Given the description of an element on the screen output the (x, y) to click on. 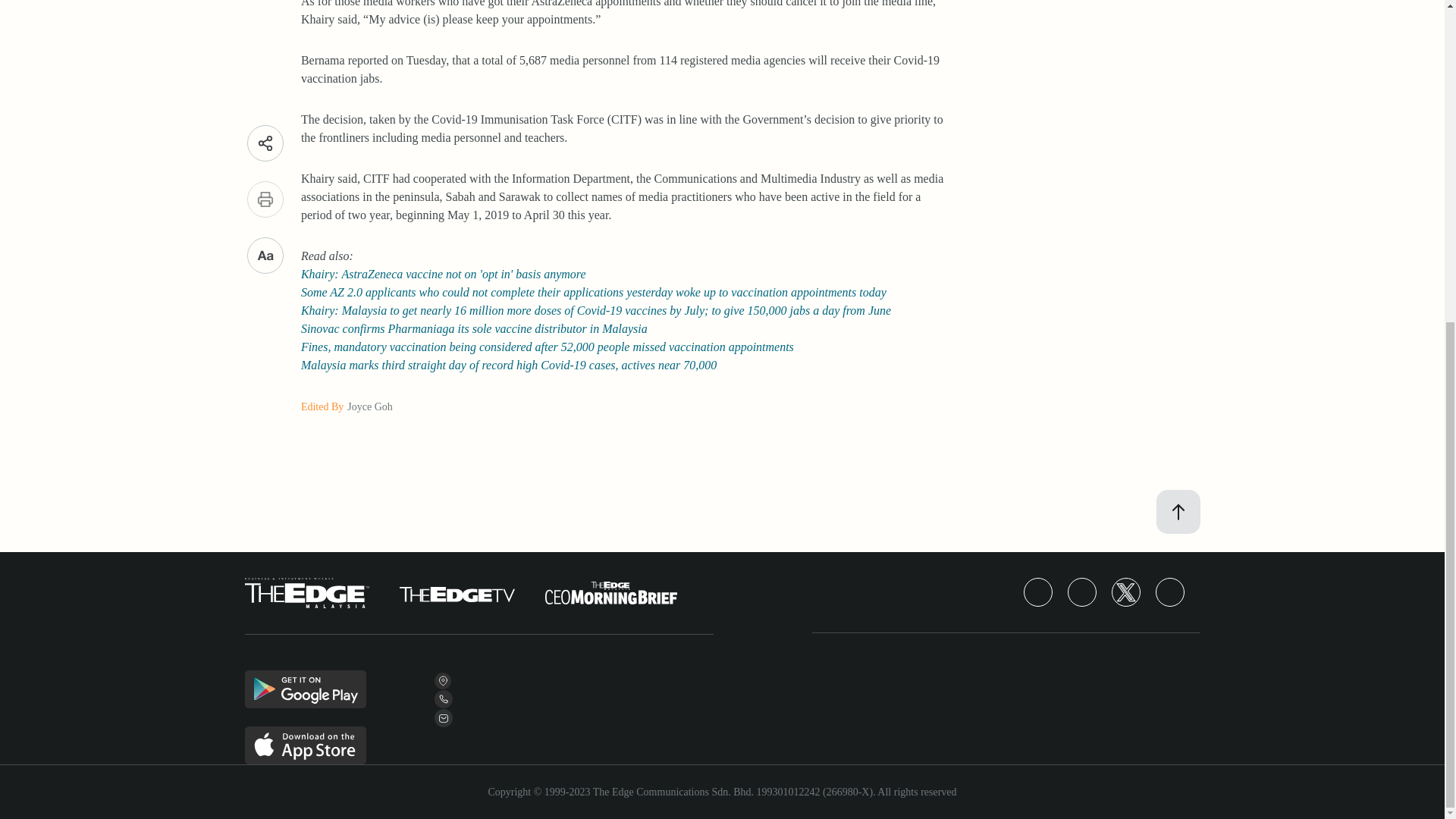
Khairy: AstraZeneca vaccine not on 'opt in' basis anymore (443, 273)
